Given the description of an element on the screen output the (x, y) to click on. 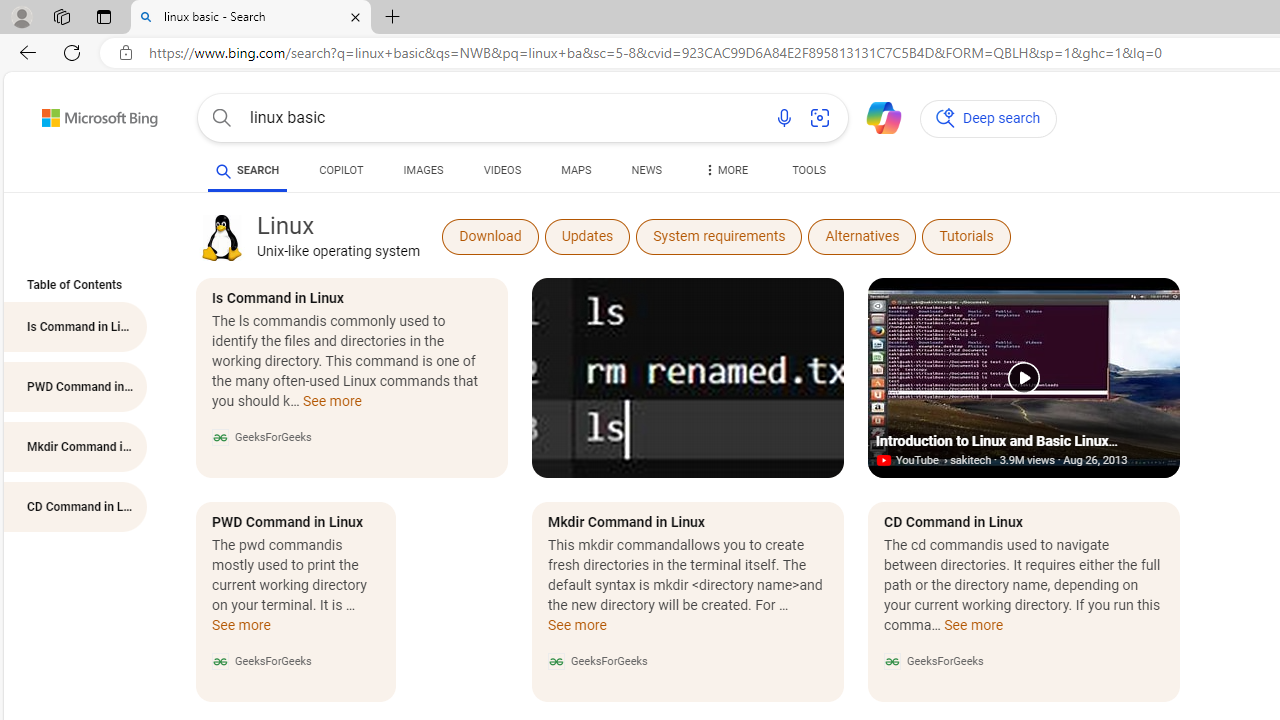
AutomationID: b-scopeListItem-web (247, 170)
Linux (221, 237)
NEWS (646, 170)
SEARCH (247, 170)
Search button (221, 117)
AutomationID: b-scopeListItem-menu (724, 173)
Linux Unix-like operating system (338, 236)
Updates (587, 236)
MAPS (576, 170)
AutomationID: b-scopeListItem-news (646, 173)
Class: slide wptSld colSpan3 rowSpan4 (1023, 489)
